Given the description of an element on the screen output the (x, y) to click on. 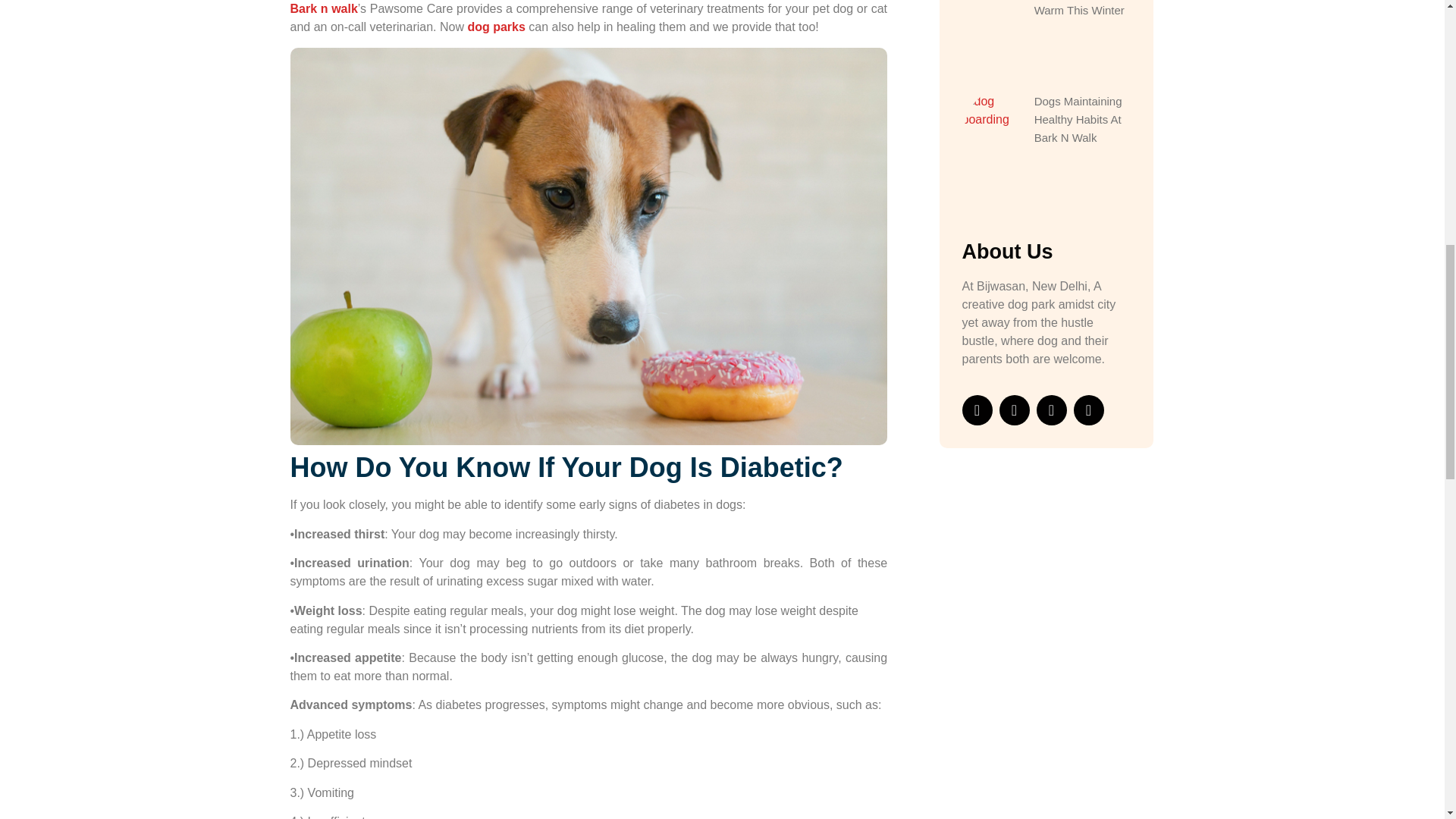
Bark n walk (322, 8)
dog parks (495, 26)
